Given the description of an element on the screen output the (x, y) to click on. 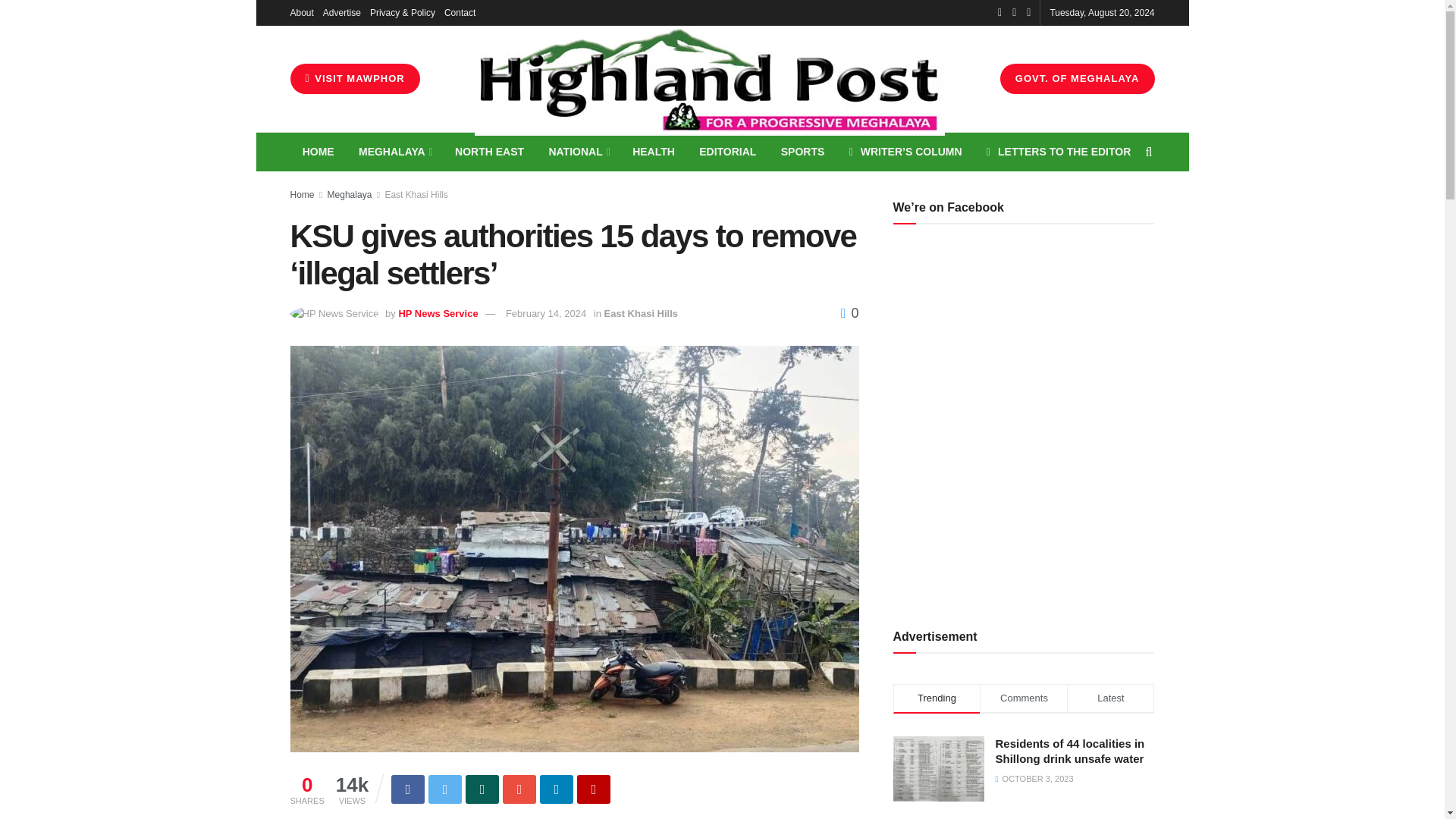
HOME (317, 151)
Advertise (342, 12)
Contact (460, 12)
GOVT. OF MEGHALAYA (1077, 78)
About (301, 12)
VISIT MAWPHOR (354, 78)
MEGHALAYA (394, 151)
